Given the description of an element on the screen output the (x, y) to click on. 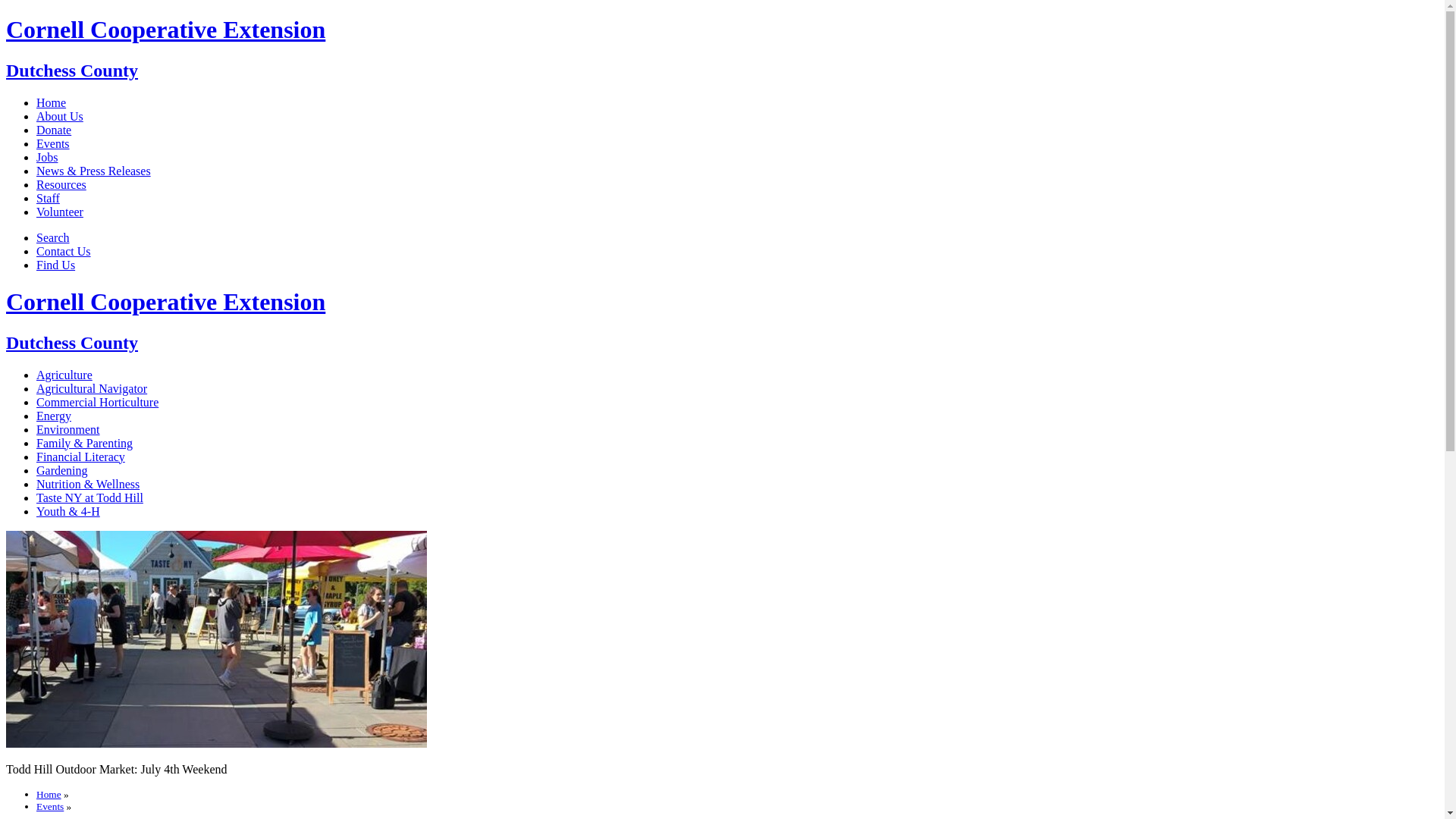
Resources (60, 184)
Events (52, 143)
Staff (47, 197)
Volunteer (59, 211)
Find Us (55, 264)
Donate (53, 129)
Agriculture (64, 374)
Environment (68, 429)
Search (52, 237)
About Us (59, 115)
Home (50, 102)
Taste NY at Todd Hill (89, 497)
Events (50, 806)
Jobs (47, 156)
Commercial Horticulture (97, 401)
